Given the description of an element on the screen output the (x, y) to click on. 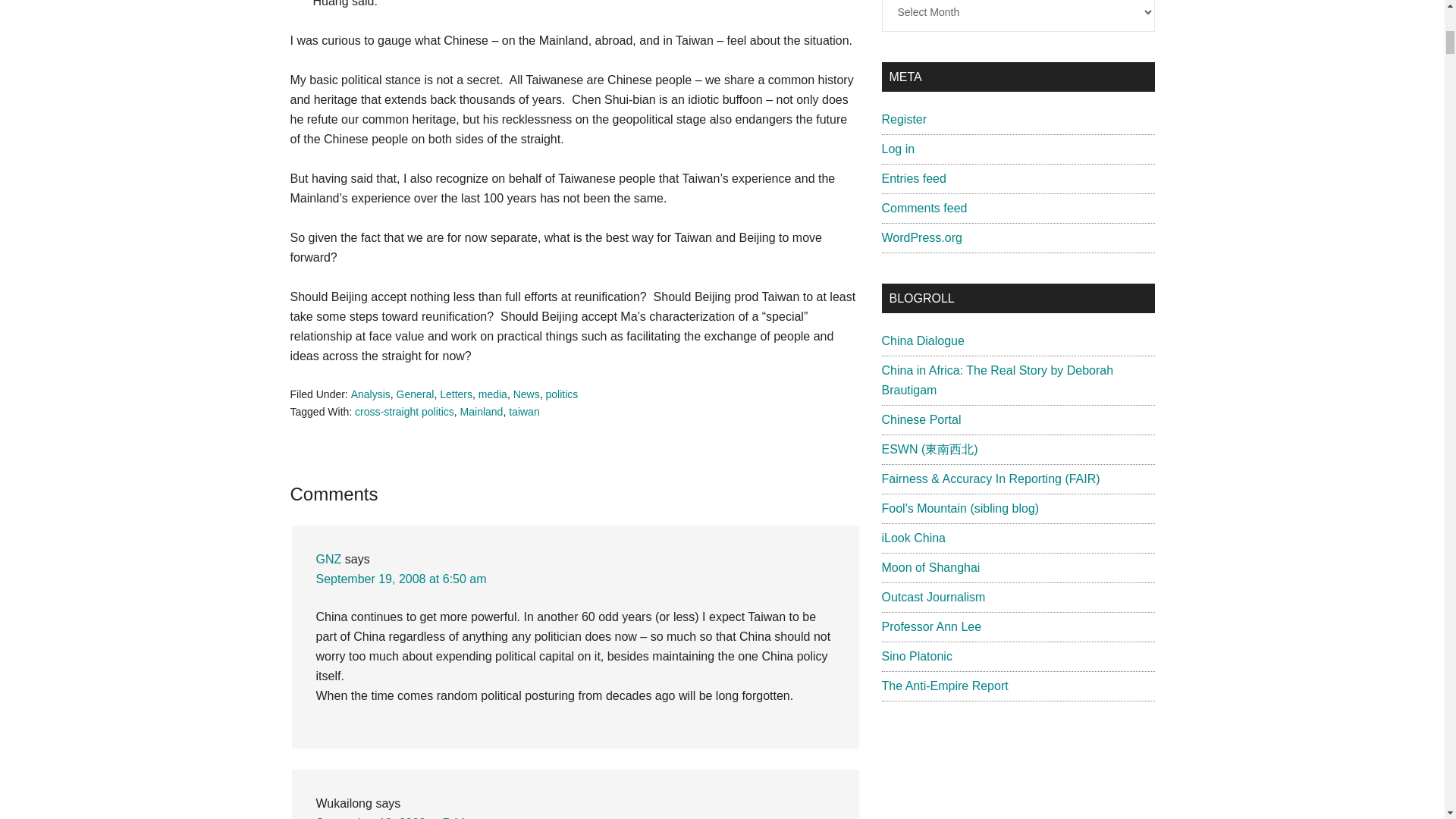
Mainland (481, 411)
General (414, 394)
GNZ (327, 558)
cross-straight politics (404, 411)
politics (561, 394)
September 19, 2008 at 7:11 am (400, 817)
September 19, 2008 at 6:50 am (400, 578)
News (526, 394)
